Given the description of an element on the screen output the (x, y) to click on. 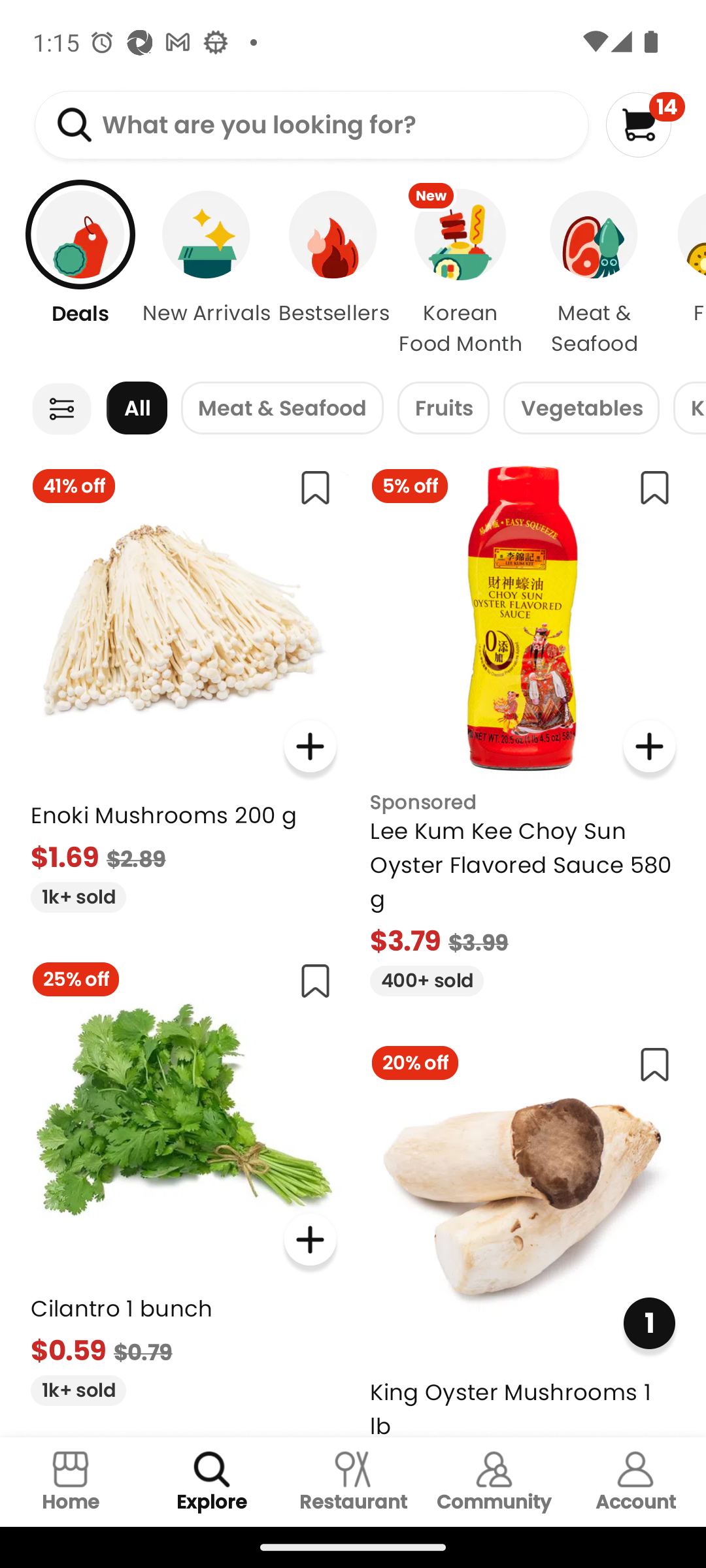
What are you looking for? (311, 124)
14 (644, 124)
Deals (70, 274)
New Arrivals (206, 274)
Bestsellers (333, 274)
New Korean Food Month (460, 274)
Meat & Seafood (594, 274)
All (136, 407)
Meat & Seafood (282, 407)
Fruits (443, 407)
Vegetables (581, 407)
41% off Enoki Mushrooms 200 g $1.69 $2.89 1k+ sold (182, 682)
25% off Cilantro 1 bunch $0.59 $0.79 1k+ sold (182, 1176)
20% off 1 King Oyster Mushrooms 1 lb (522, 1233)
1 (648, 1323)
Home (70, 1482)
Explore (211, 1482)
Restaurant (352, 1482)
Community (493, 1482)
Account (635, 1482)
